Given the description of an element on the screen output the (x, y) to click on. 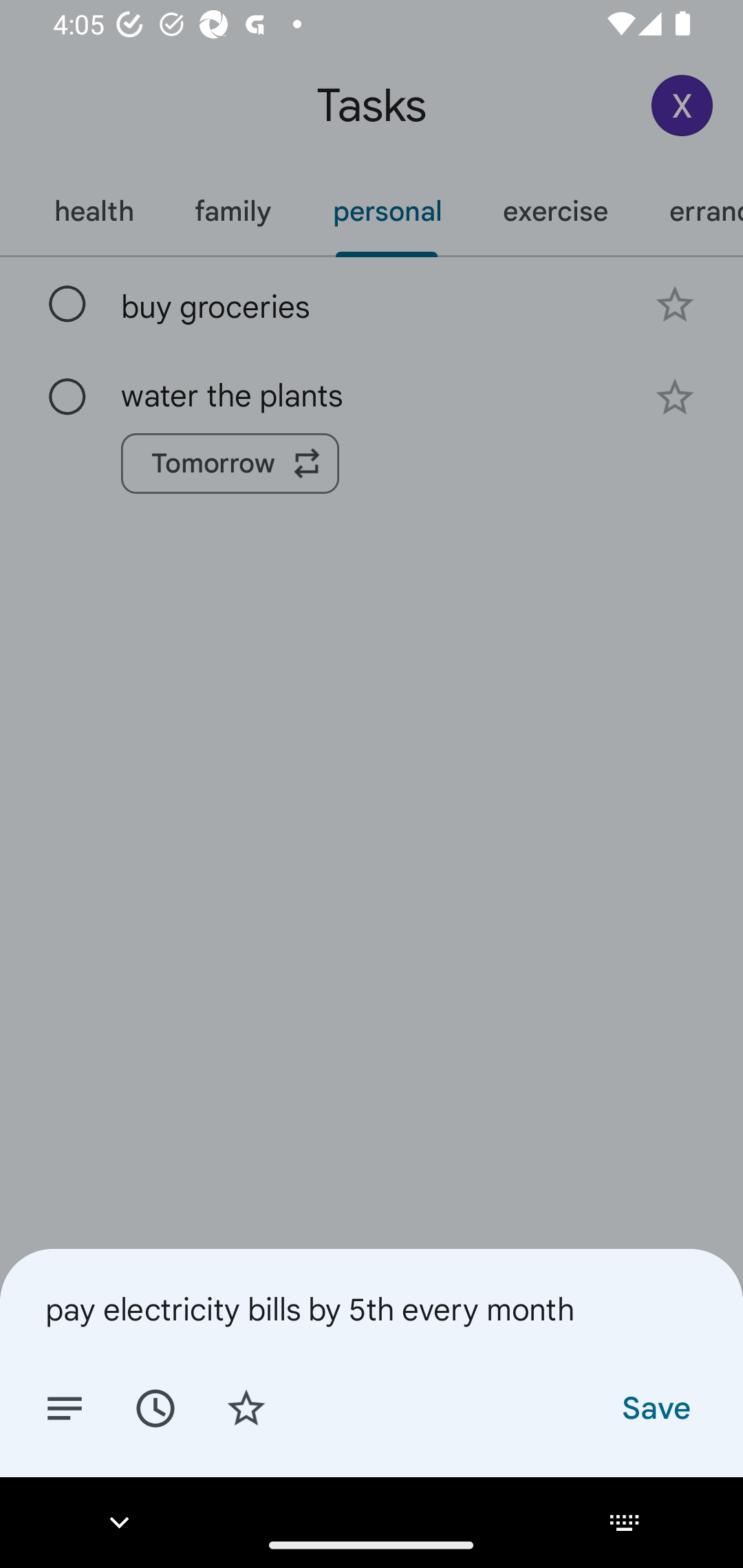
pay electricity bills by 5th every month (371, 1308)
Save (655, 1407)
Add details (64, 1407)
Set date/time (154, 1407)
Add star (245, 1407)
